Given the description of an element on the screen output the (x, y) to click on. 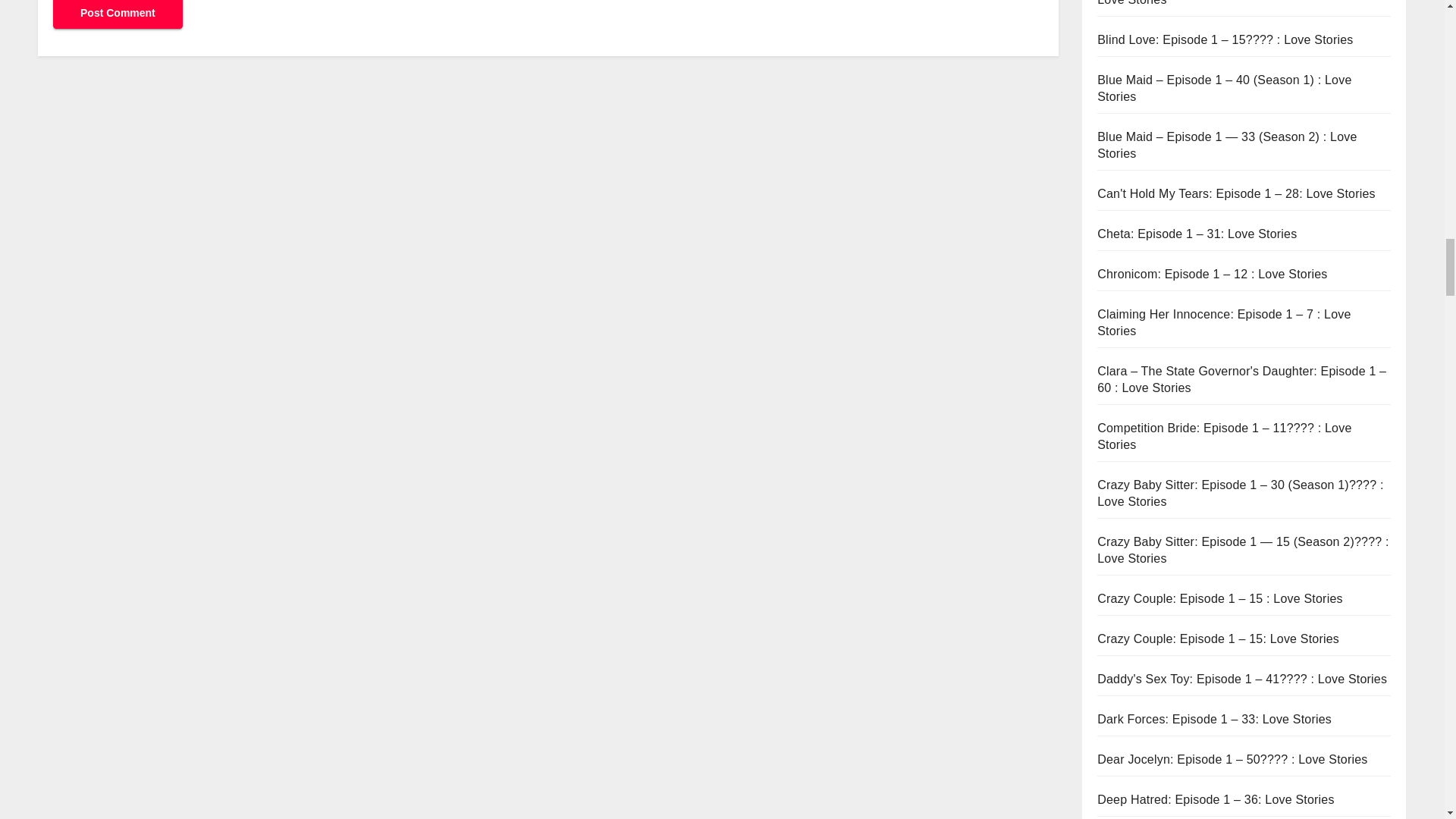
Post Comment (117, 14)
